Given the description of an element on the screen output the (x, y) to click on. 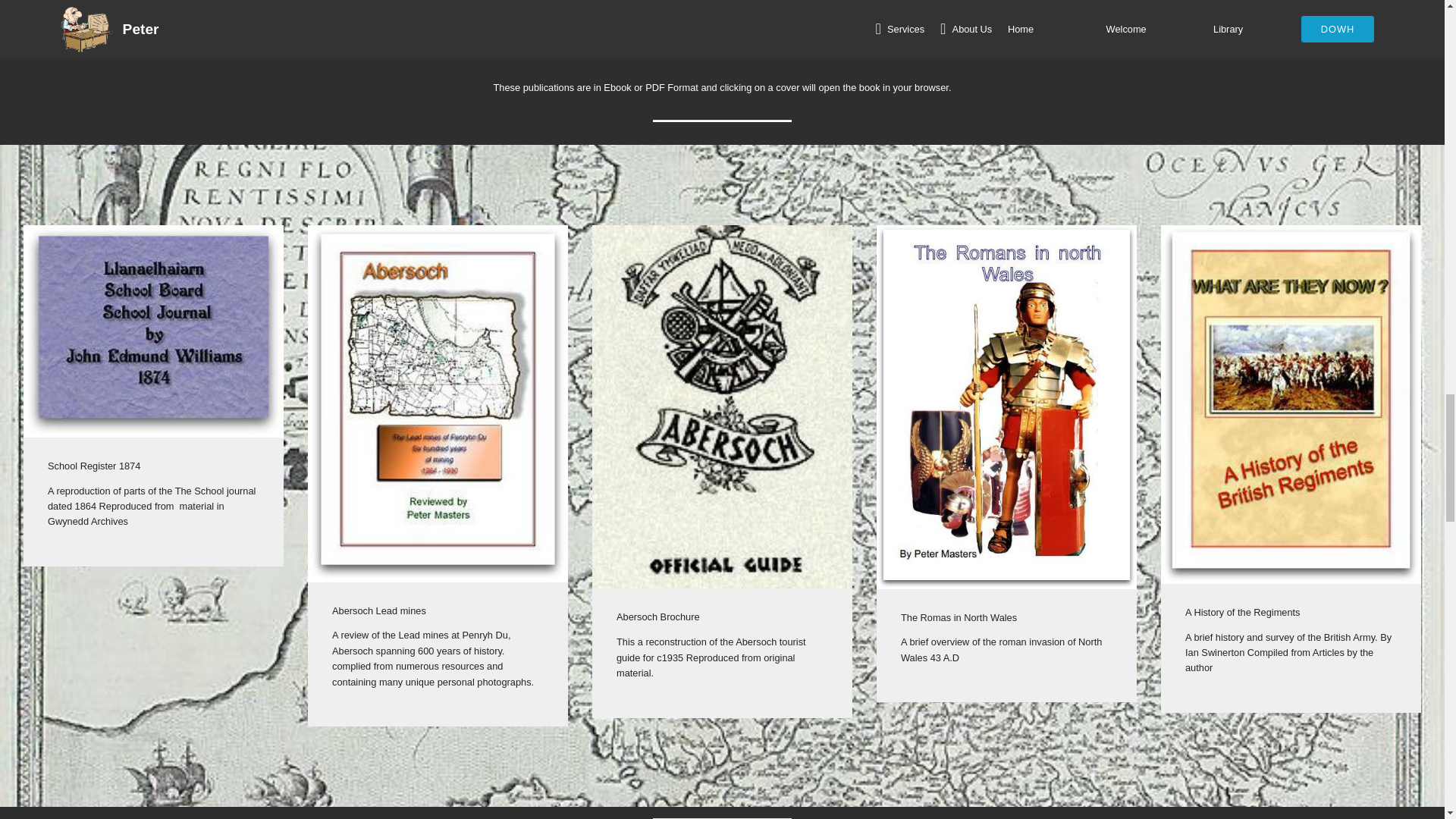
Lead Mines (437, 403)
Abersoch Guide (721, 406)
Romans in Wales (1006, 406)
History of the Regiments (1290, 404)
School Register (153, 331)
